Given the description of an element on the screen output the (x, y) to click on. 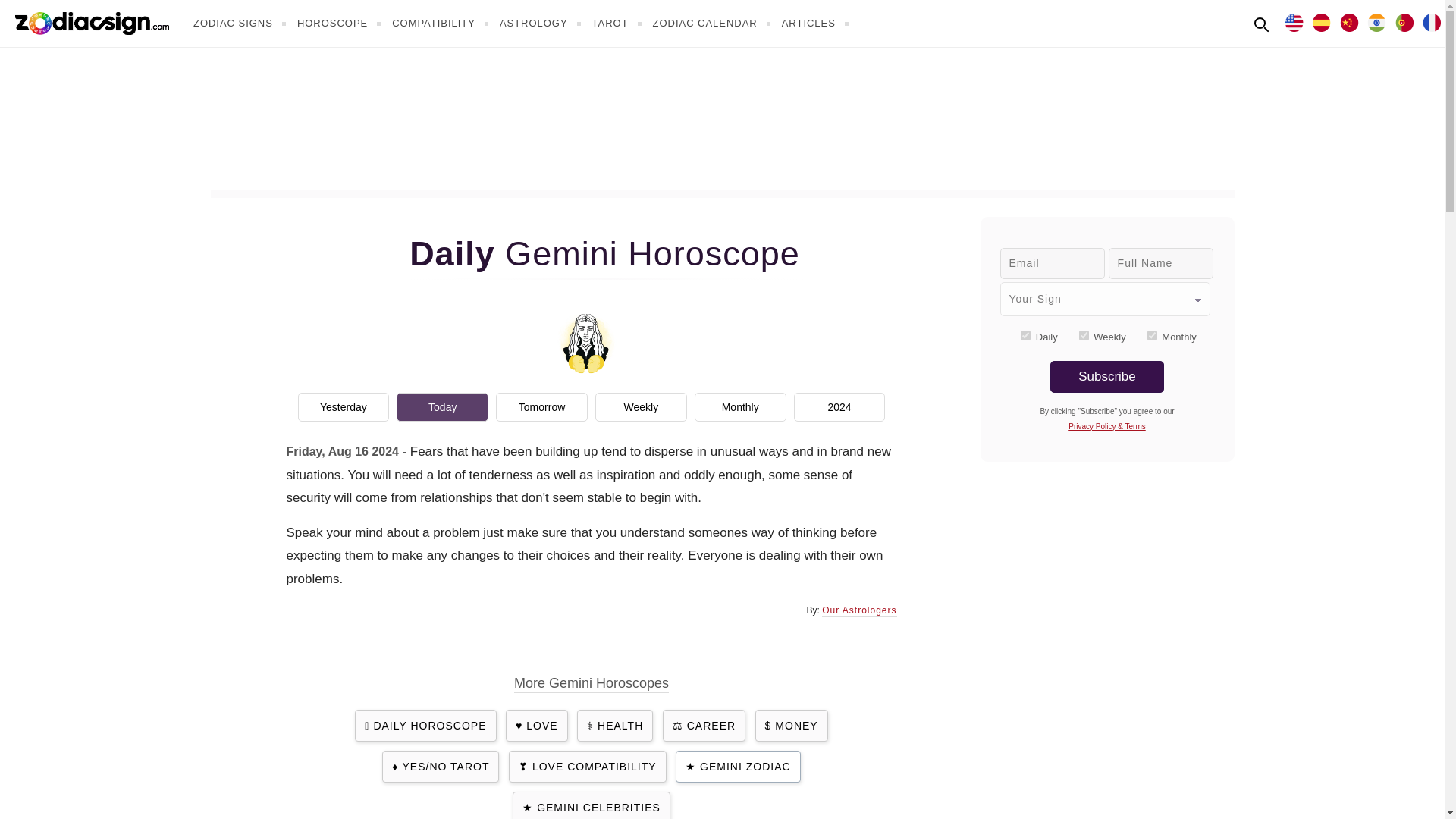
monthly (1152, 335)
weekly (1083, 335)
HOROSCOPE (341, 23)
ZODIAC SIGNS (241, 23)
daily (1025, 335)
In English (1294, 21)
